Given the description of an element on the screen output the (x, y) to click on. 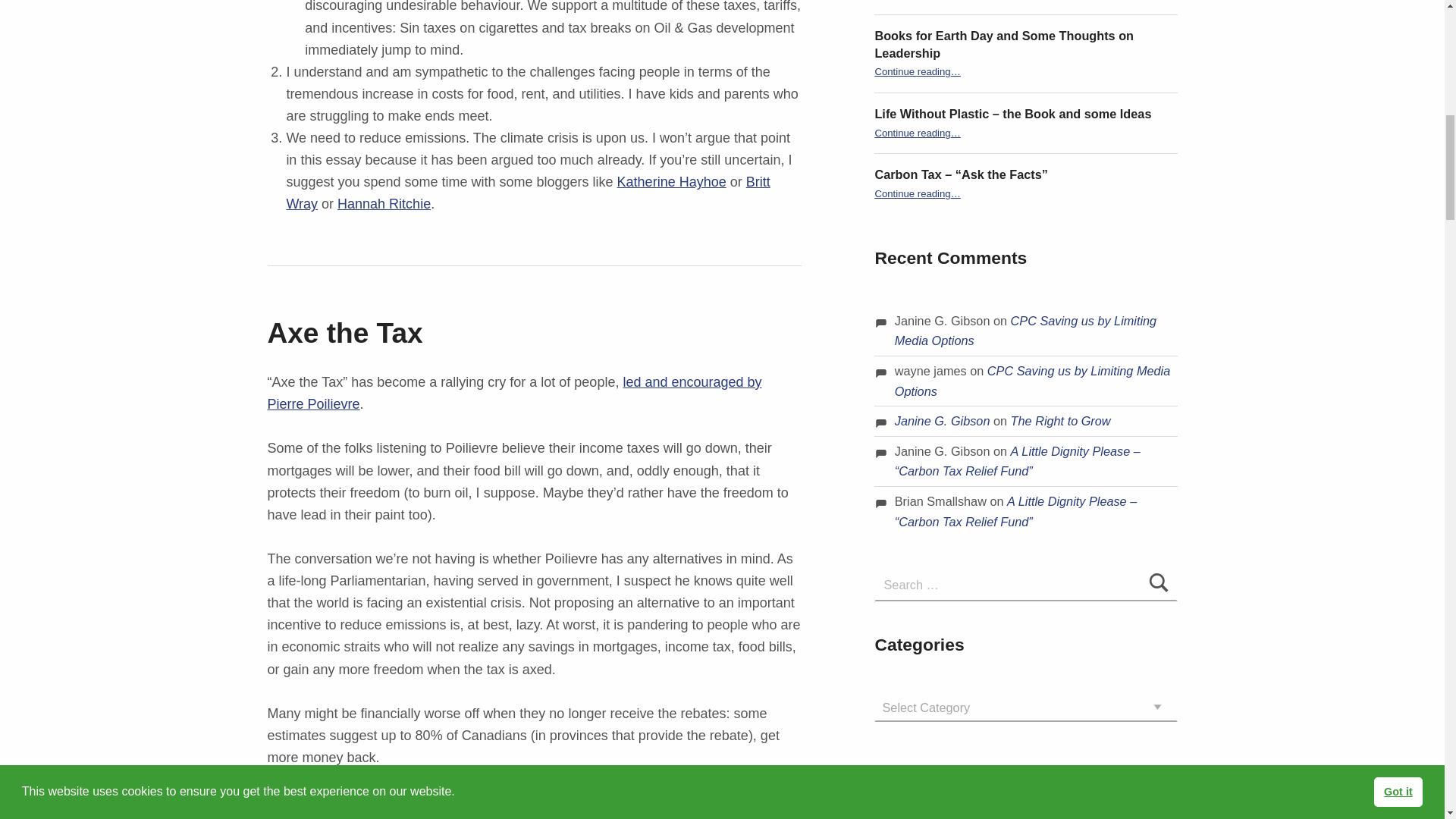
led and encouraged by Pierre Poilievre (513, 392)
Hannah Ritchie (383, 203)
Katherine Hayhoe (671, 181)
Search (1158, 584)
Britt Wray (527, 192)
Search (1158, 584)
